Given the description of an element on the screen output the (x, y) to click on. 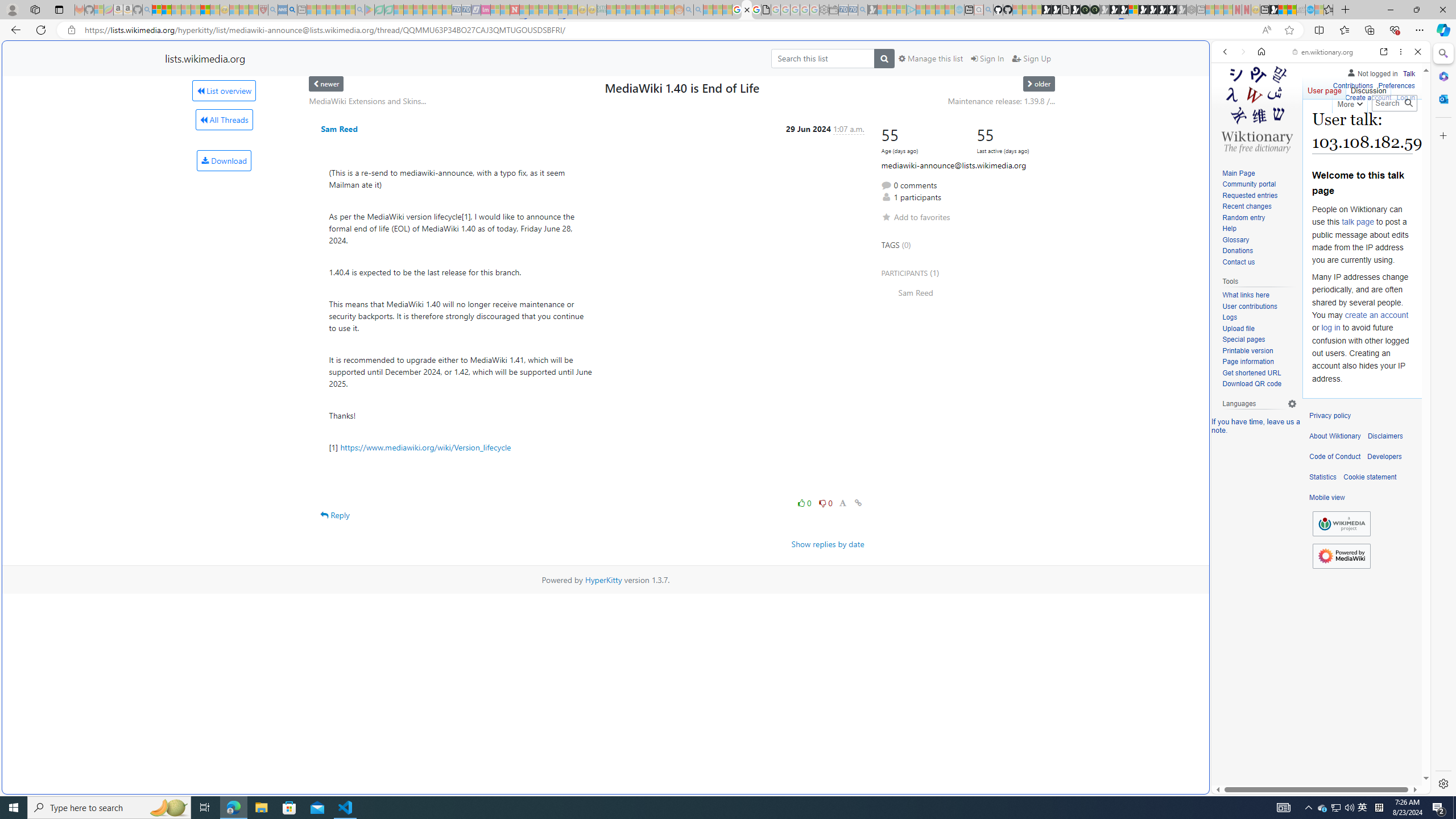
Discussion (1367, 87)
Search this list (822, 58)
If you have time, leave us a note. (1255, 425)
Navy Quest (1300, 9)
Upload file (1238, 328)
Services - Maintenance | Sky Blue Bikes - Sky Blue Bikes (1309, 9)
Frequently visited (965, 151)
